Given the description of an element on the screen output the (x, y) to click on. 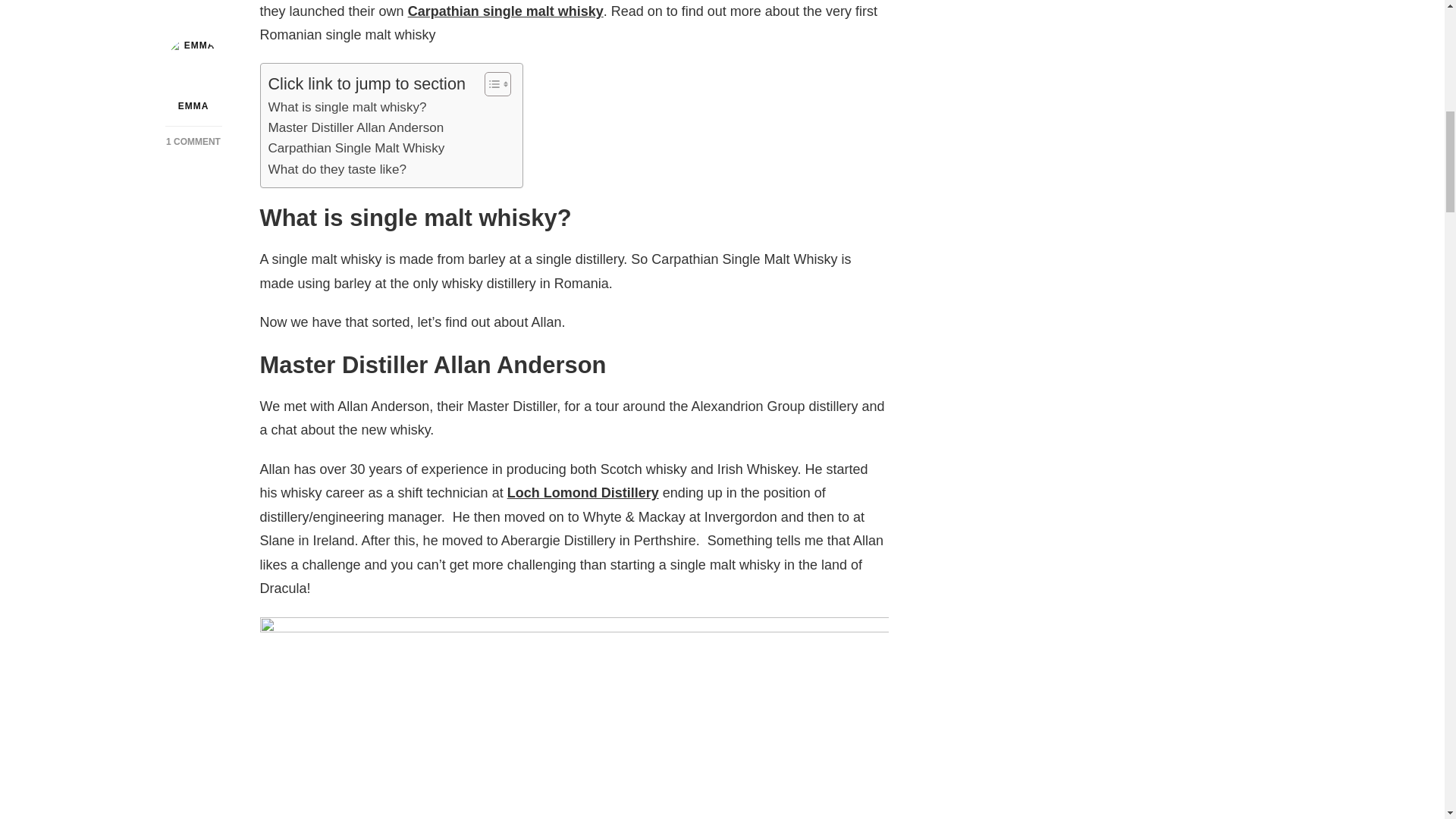
Master Distiller Allan Anderson (355, 127)
What is single malt whisky? (346, 107)
What do they taste like? (336, 168)
Carpathian Single Malt Whisky (356, 148)
